Given the description of an element on the screen output the (x, y) to click on. 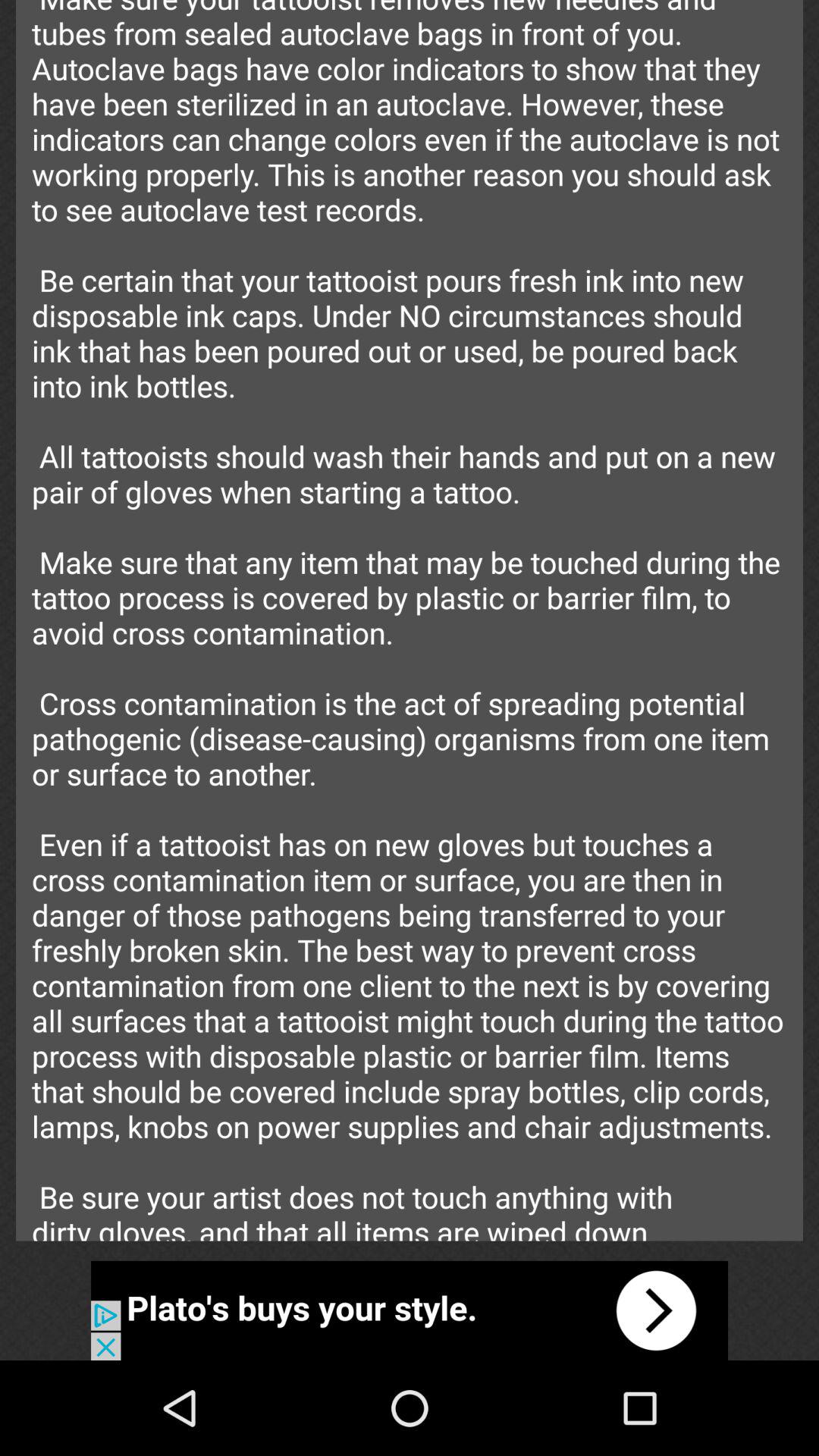
open advertisement (409, 1310)
